Given the description of an element on the screen output the (x, y) to click on. 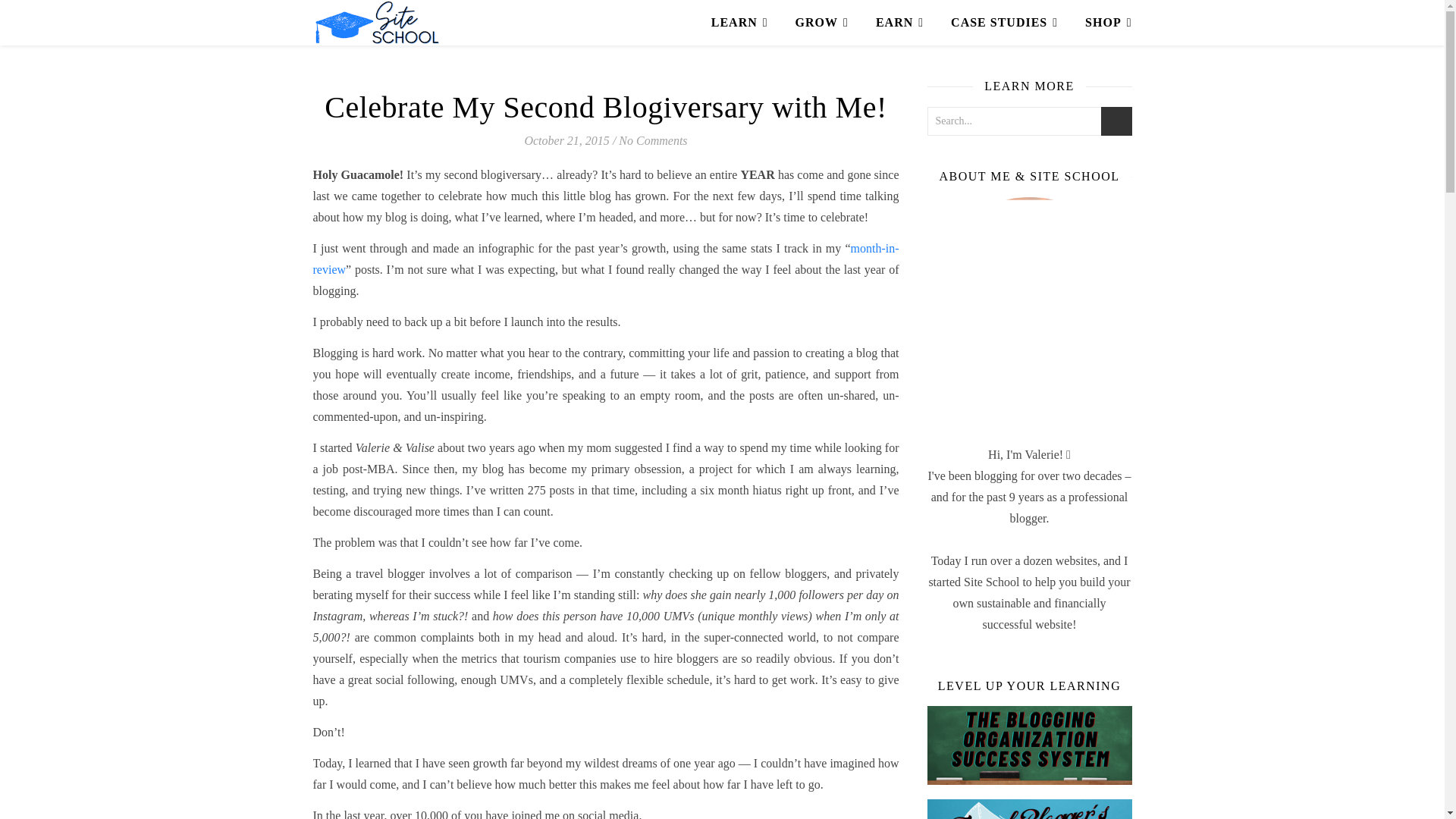
SHOP (1102, 22)
GROW (821, 22)
Site School (377, 22)
CASE STUDIES (1004, 22)
LEARN (745, 22)
EARN (899, 22)
